Given the description of an element on the screen output the (x, y) to click on. 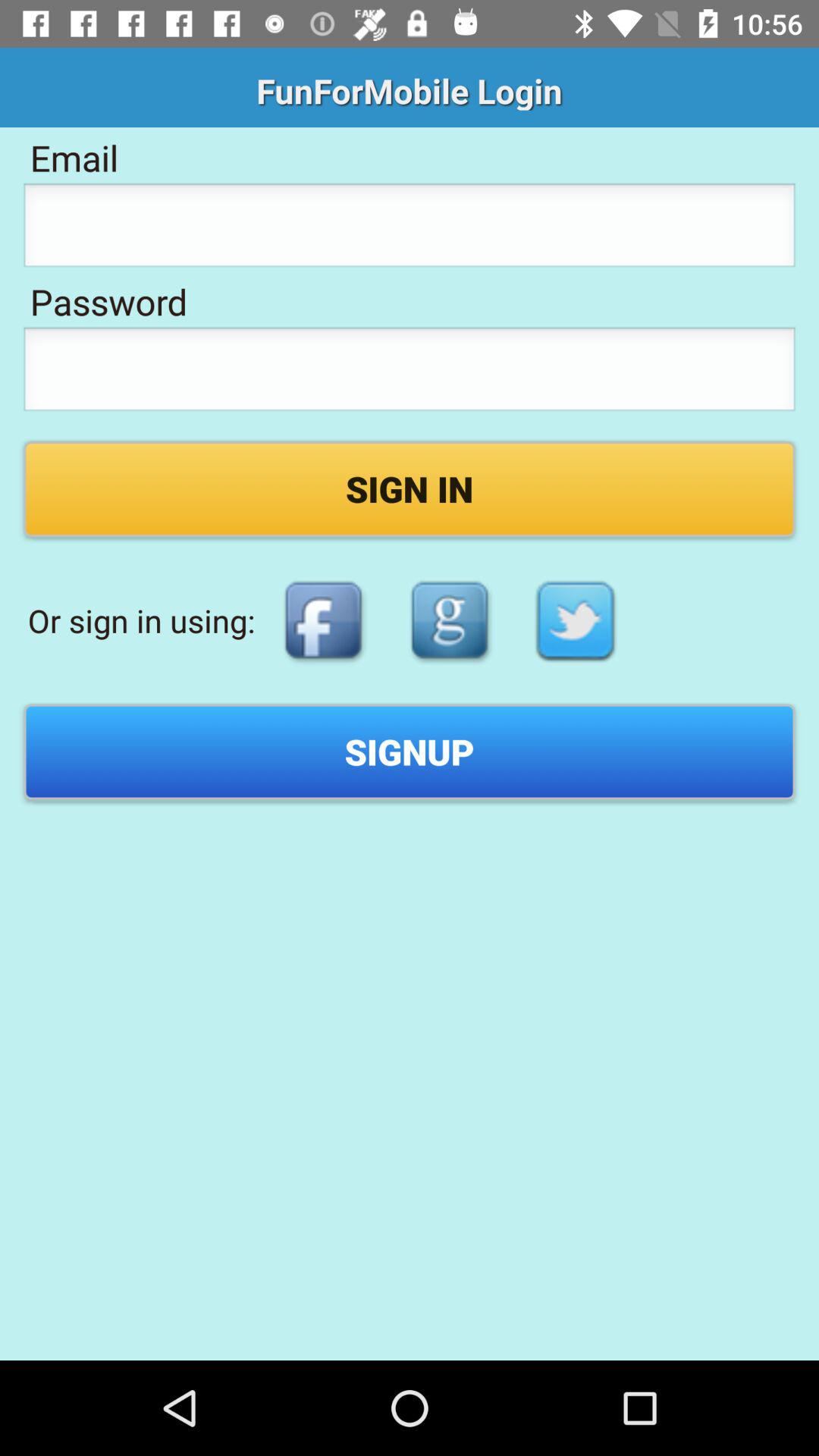
enter email (409, 229)
